Given the description of an element on the screen output the (x, y) to click on. 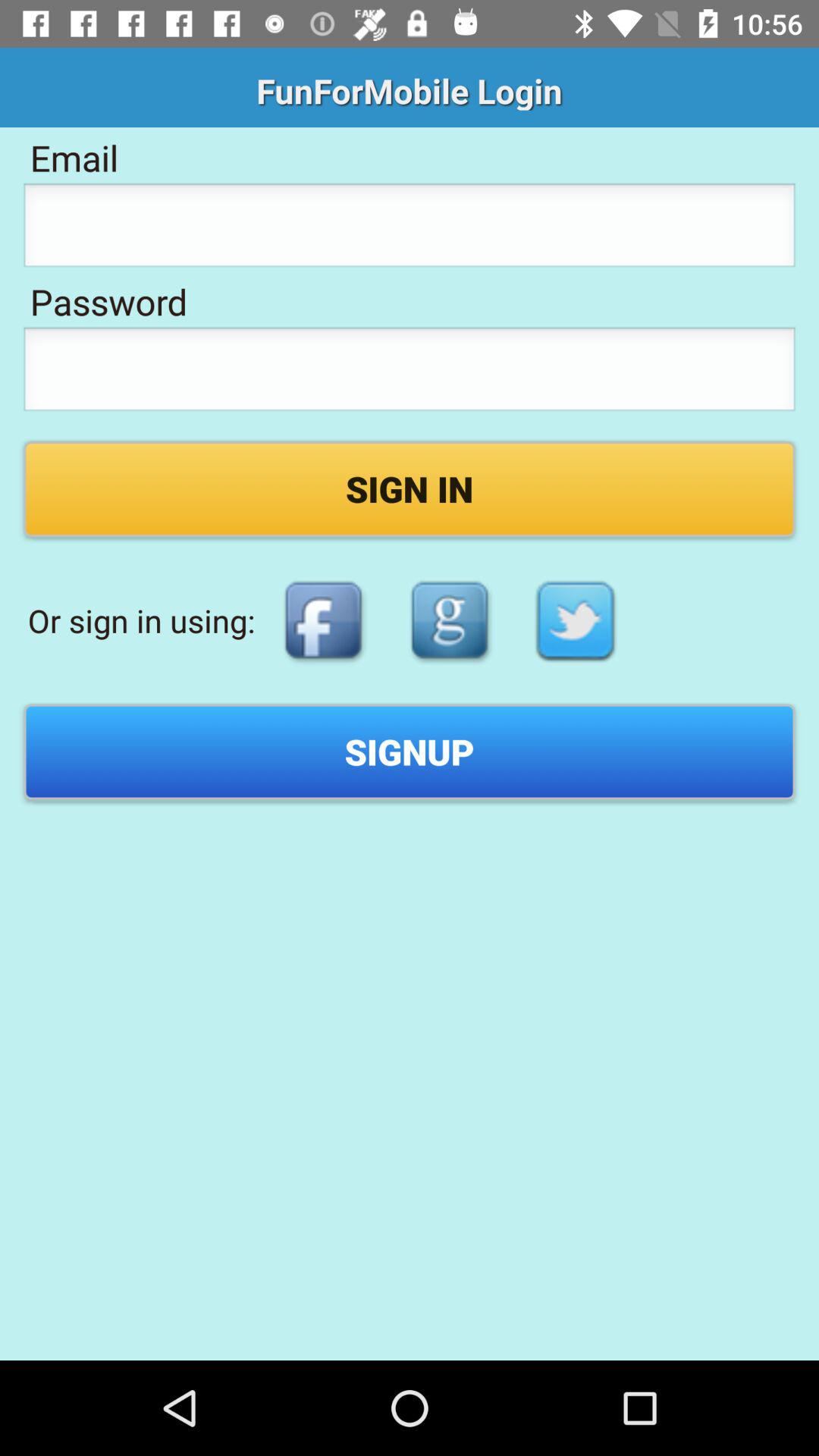
enter email (409, 229)
